Given the description of an element on the screen output the (x, y) to click on. 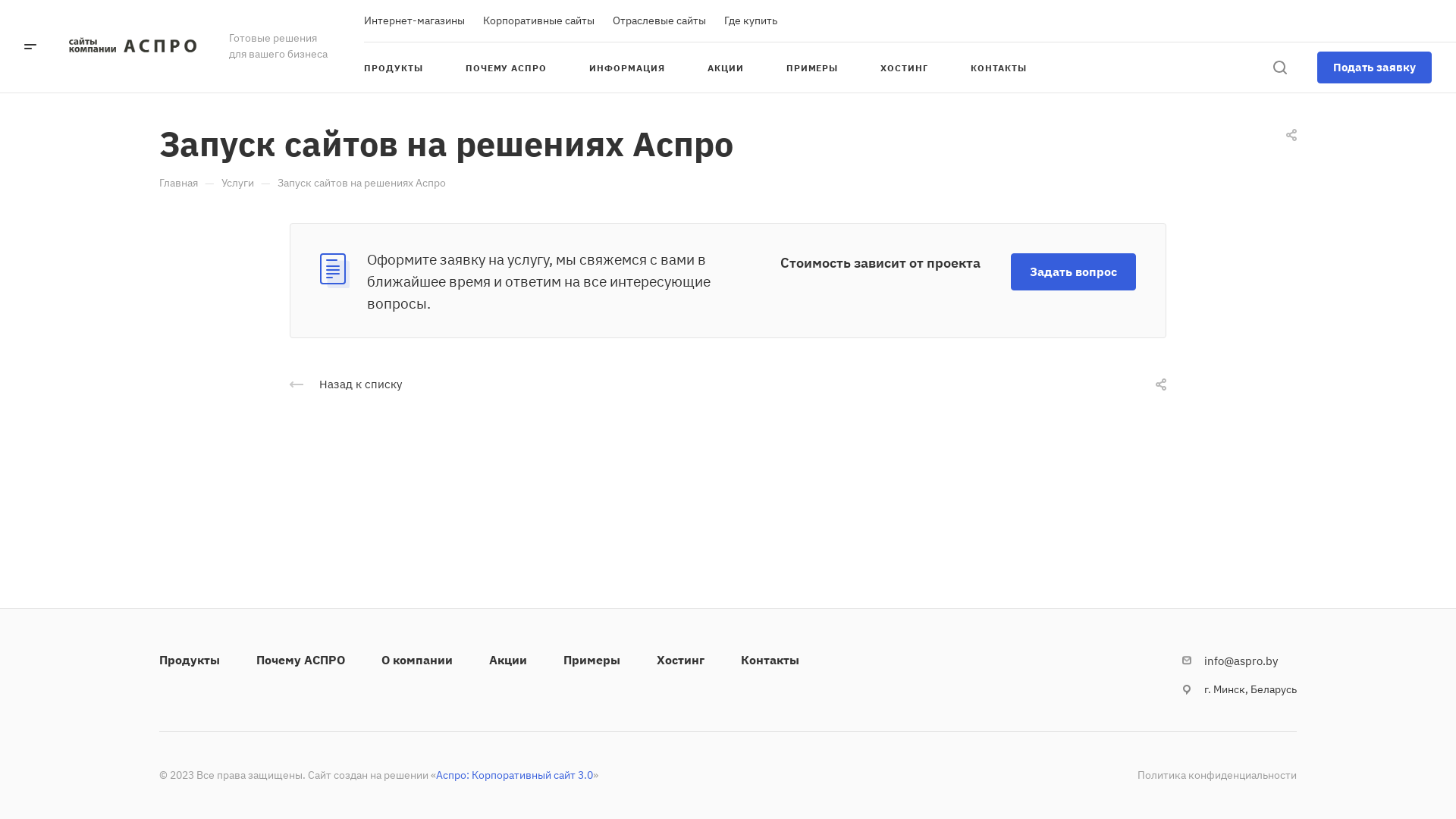
info@aspro.by Element type: text (1240, 660)
ASPRO Element type: hover (130, 45)
